Given the description of an element on the screen output the (x, y) to click on. 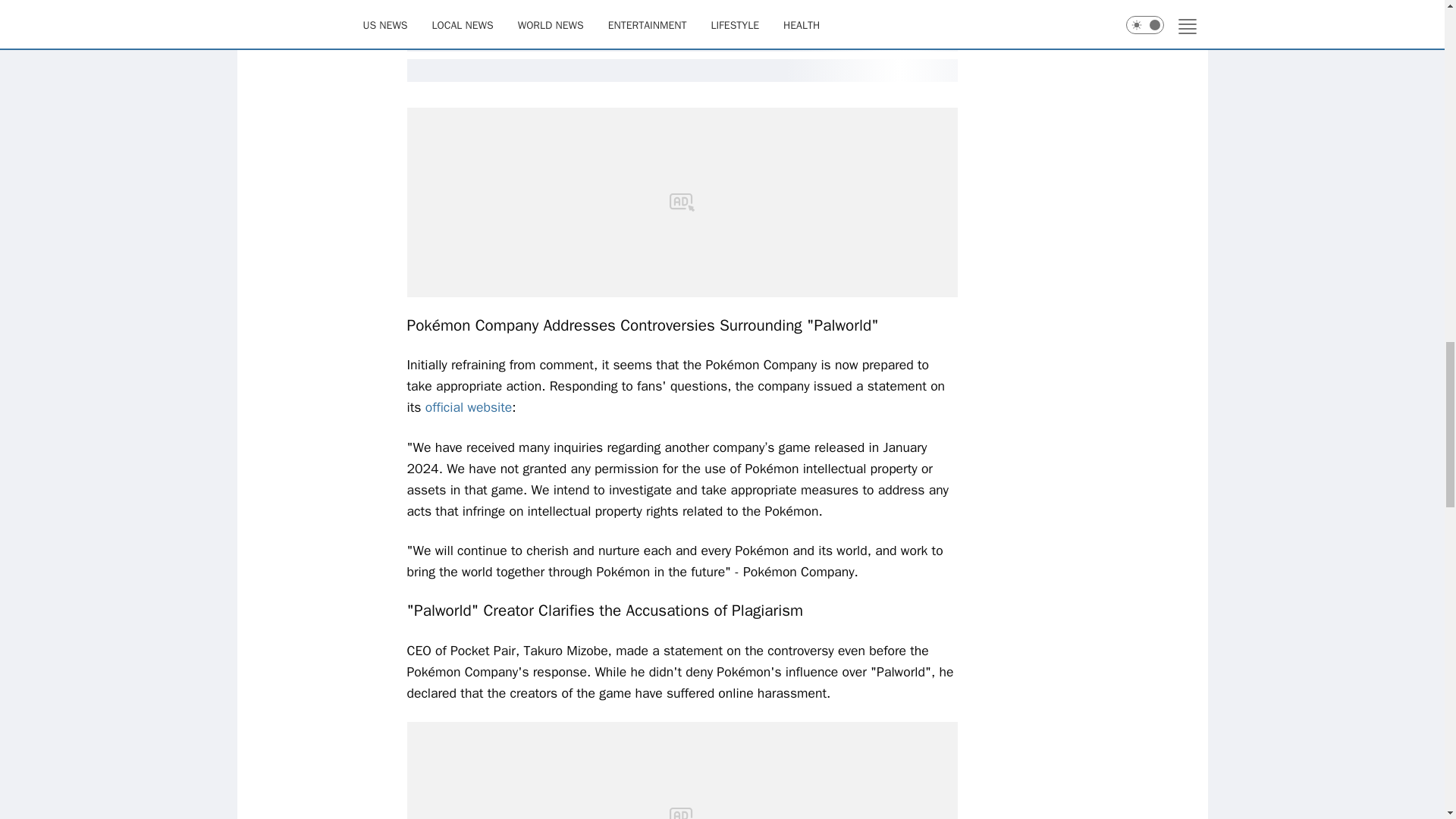
official website (468, 406)
